Given the description of an element on the screen output the (x, y) to click on. 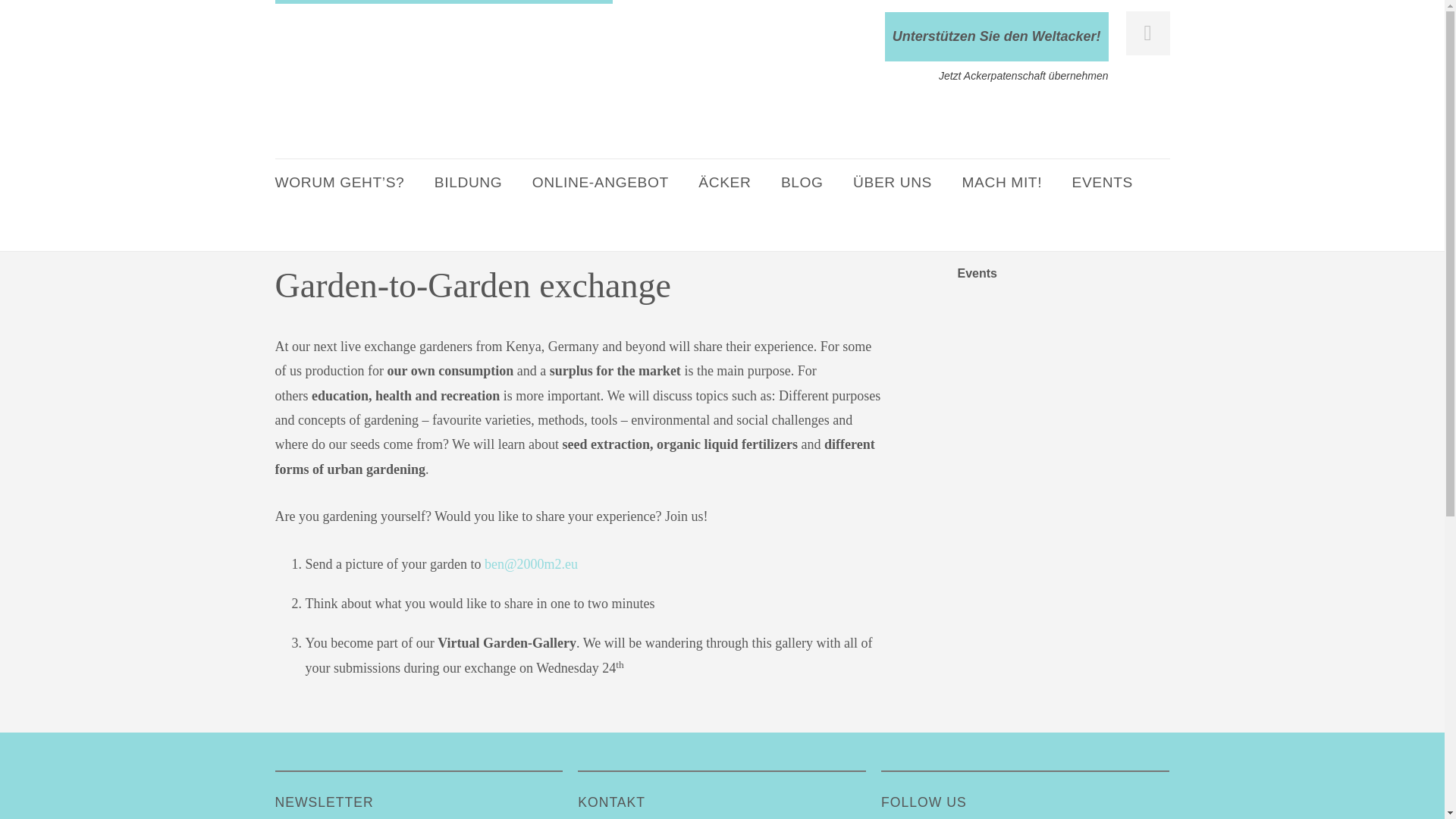
Suche (31, 13)
ONLINE-ANGEBOT (600, 182)
BILDUNG (467, 182)
